Given the description of an element on the screen output the (x, y) to click on. 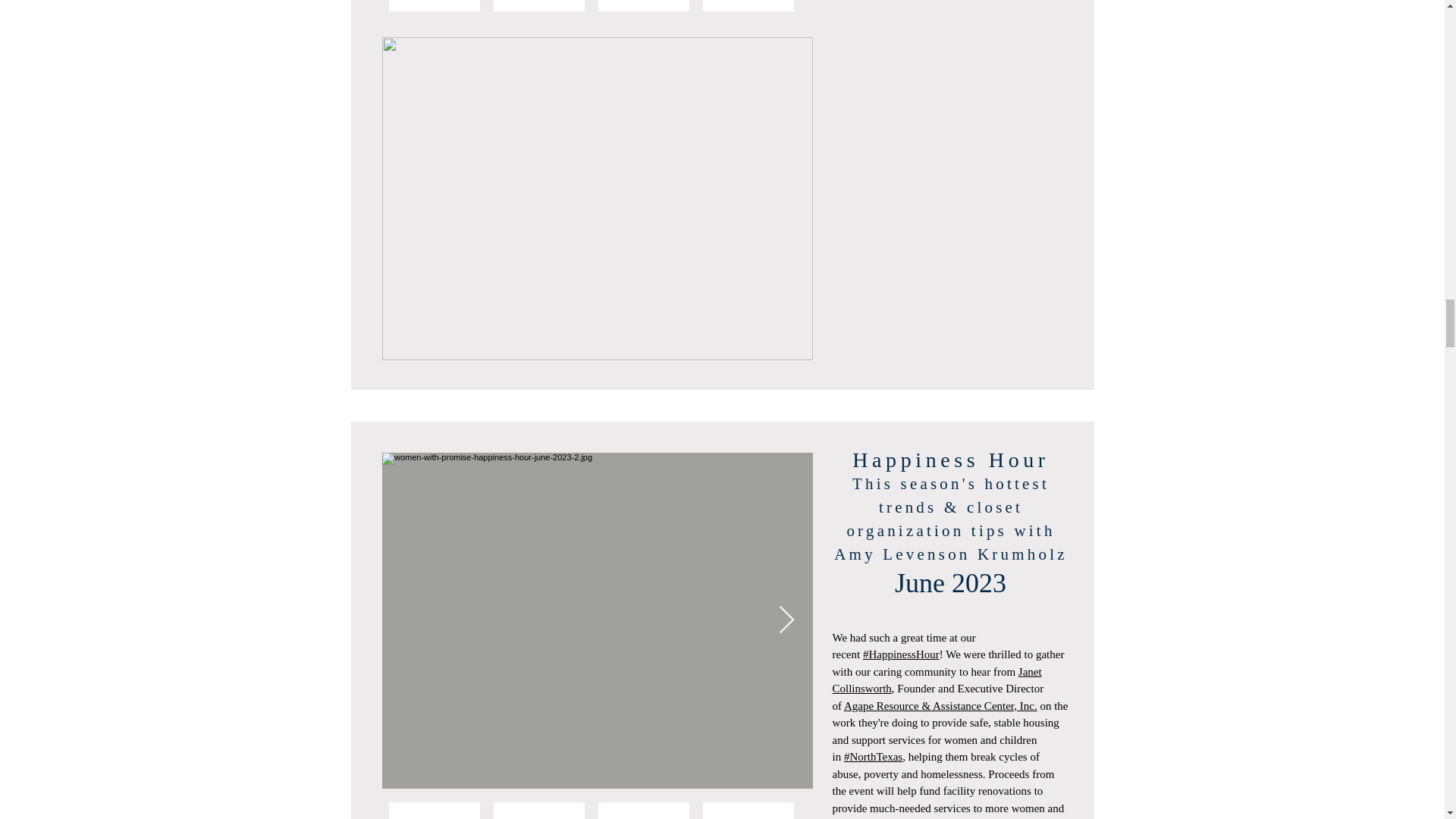
Janet Collinsworth (937, 680)
